Given the description of an element on the screen output the (x, y) to click on. 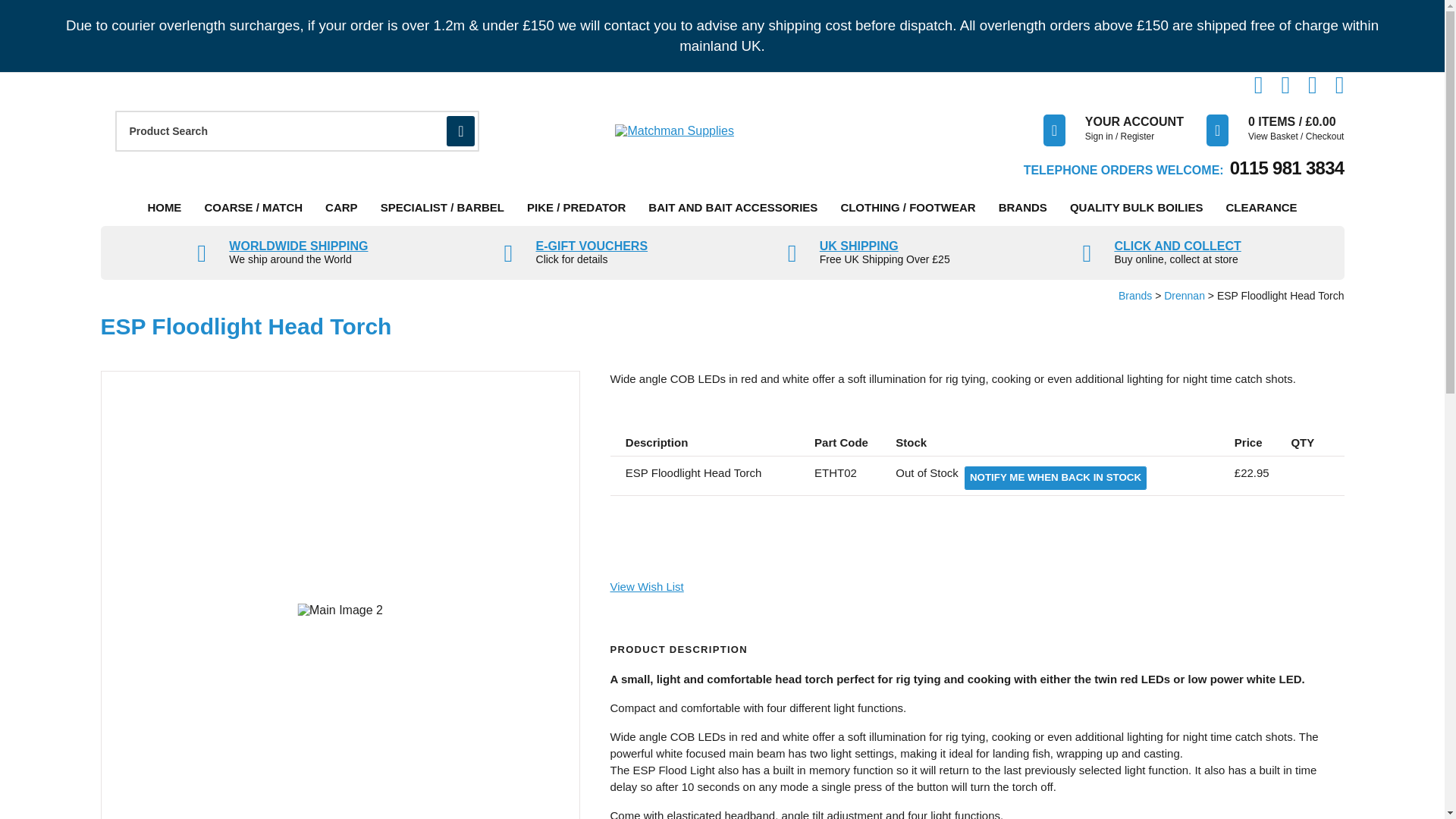
GO (460, 131)
HOME (163, 207)
CARP (341, 207)
0115 981 3834 (1286, 168)
